Given the description of an element on the screen output the (x, y) to click on. 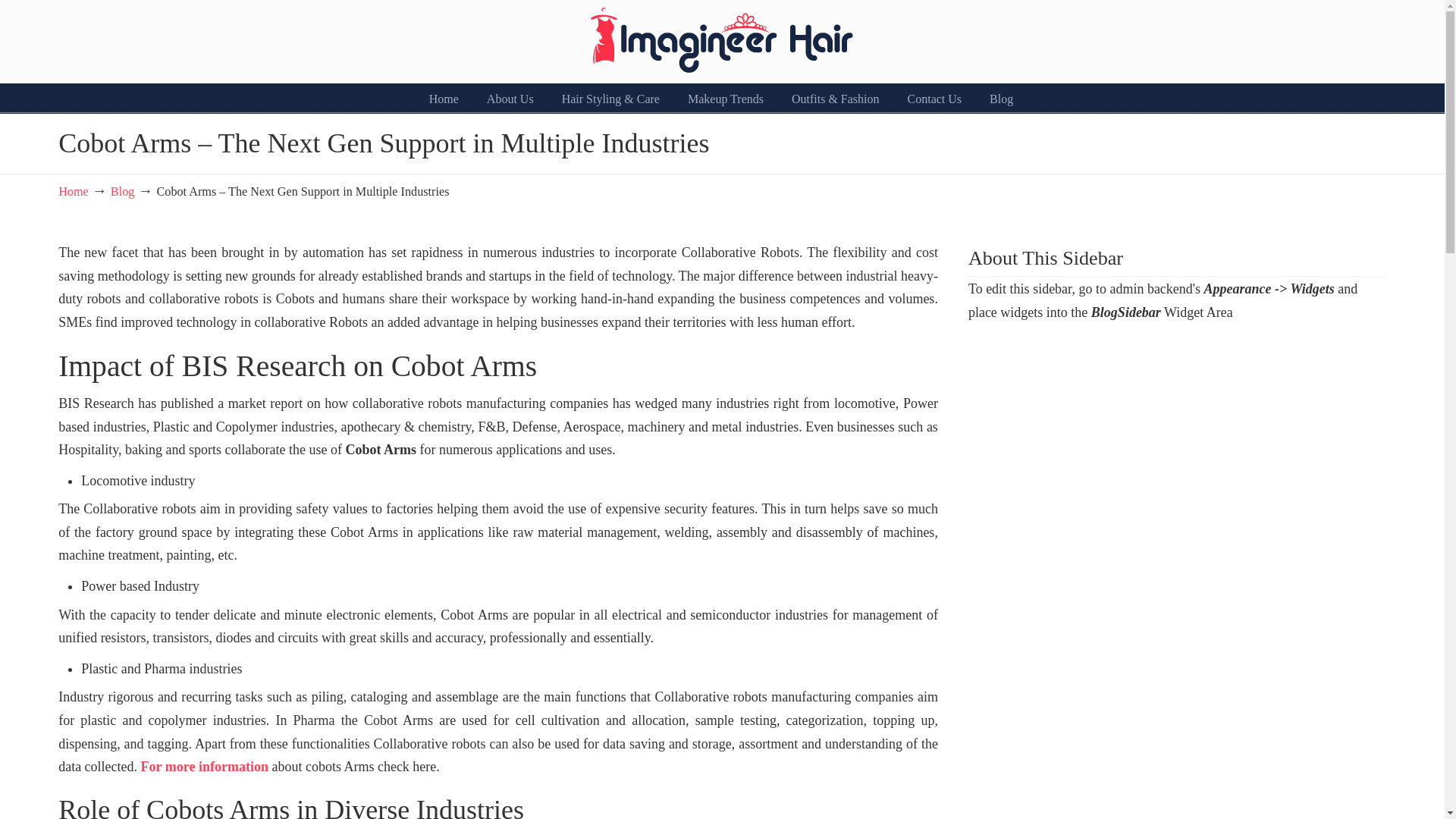
Home (73, 192)
Home (443, 99)
Imagineer Hair (722, 39)
Blog (1000, 99)
Contact Us (934, 99)
Blog (121, 192)
About Us (509, 99)
For more information (206, 766)
Imagineer Hair (722, 39)
Makeup Trends (725, 99)
